Given the description of an element on the screen output the (x, y) to click on. 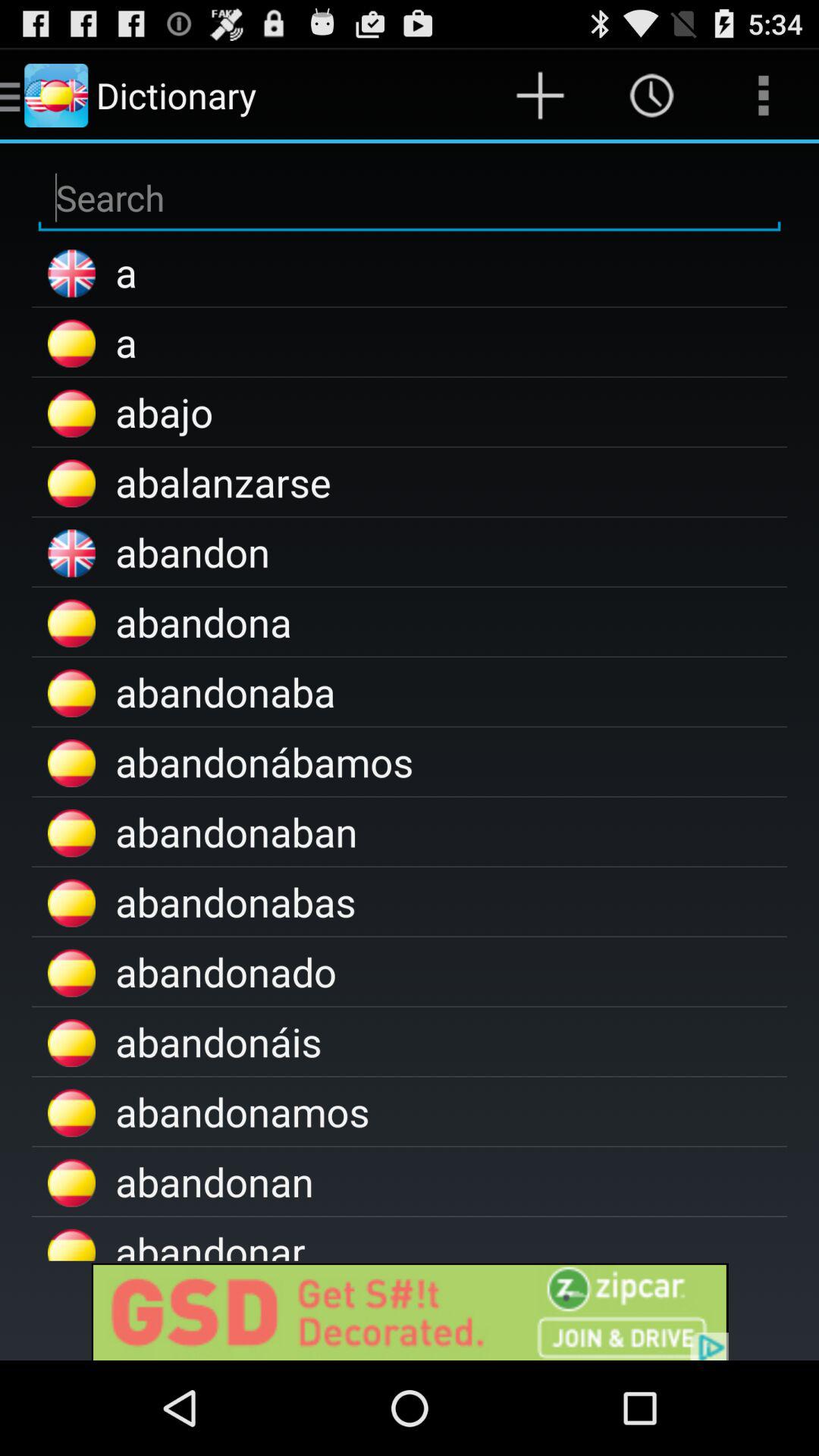
enter search term (409, 198)
